Given the description of an element on the screen output the (x, y) to click on. 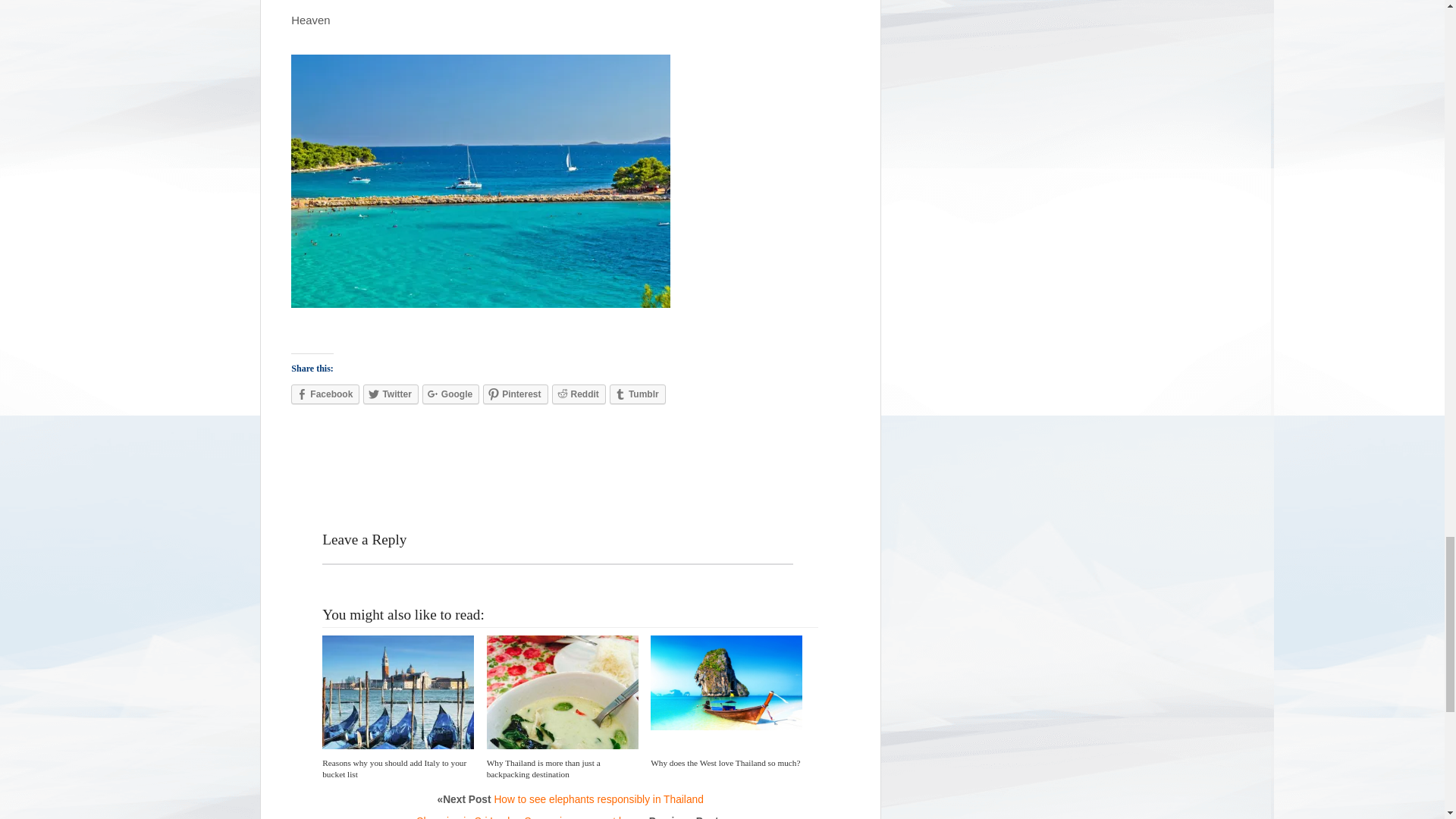
Reddit (578, 394)
Why Thailand is more than just a backpacking destination (542, 768)
Click to share on Reddit (578, 394)
Tumblr (637, 394)
How to see elephants responsibly in Thailand (598, 799)
Facebook (325, 394)
Pinterest (515, 394)
Why does the West love Thailand so much? (724, 762)
Click to share on Facebook (325, 394)
Google (450, 394)
Reasons why you should add Italy to your bucket list (393, 768)
Click to share on Twitter (389, 394)
Twitter (389, 394)
Click to share on Pinterest (515, 394)
